Given the description of an element on the screen output the (x, y) to click on. 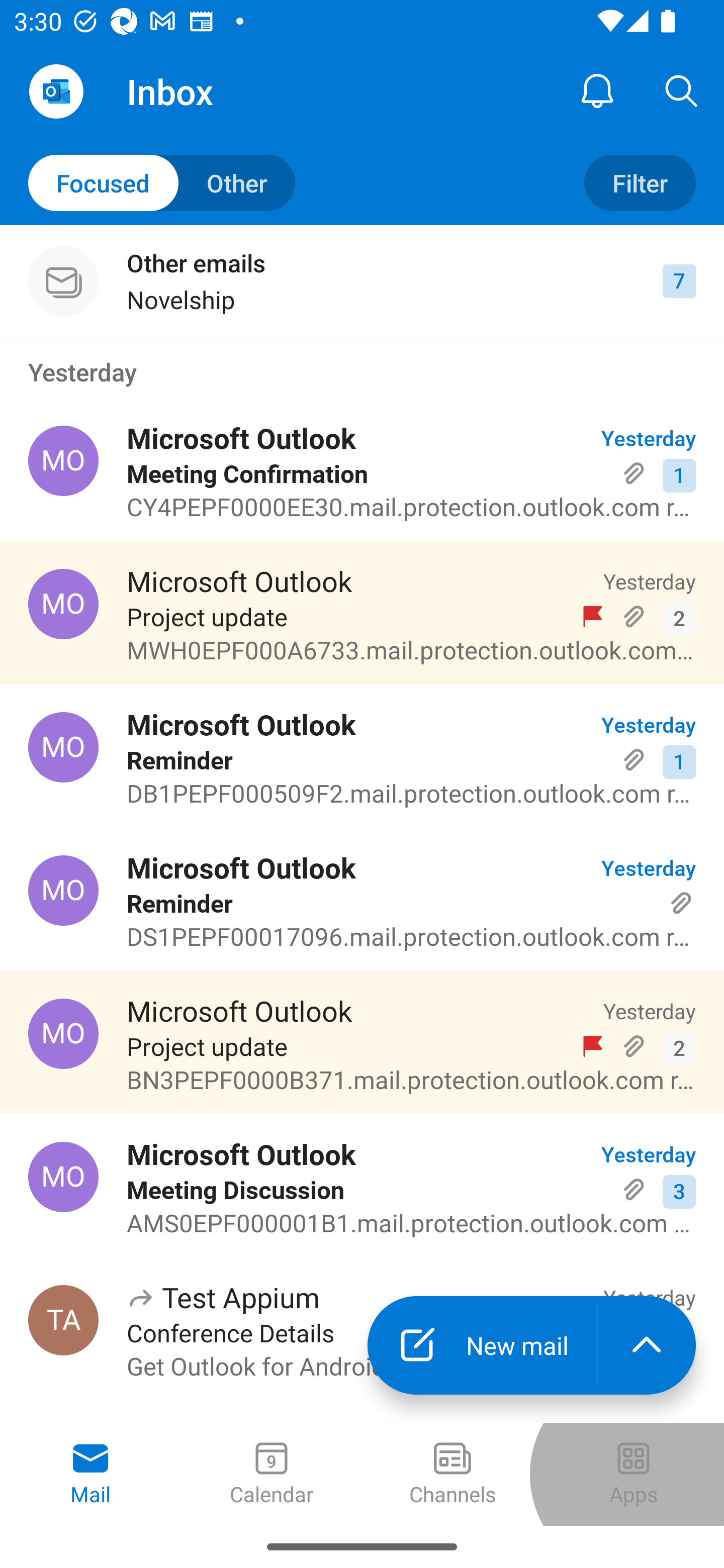
Notification Center (597, 90)
Search, ,  (681, 90)
Open Navigation Drawer (55, 91)
Toggle to other mails (161, 183)
Filter (639, 183)
Other emails Novelship 7 (362, 281)
Test Appium, testappium002@outlook.com (63, 1319)
New mail (481, 1344)
launch the extended action menu (646, 1344)
Calendar (271, 1474)
Channels (452, 1474)
Apps (633, 1474)
